Given the description of an element on the screen output the (x, y) to click on. 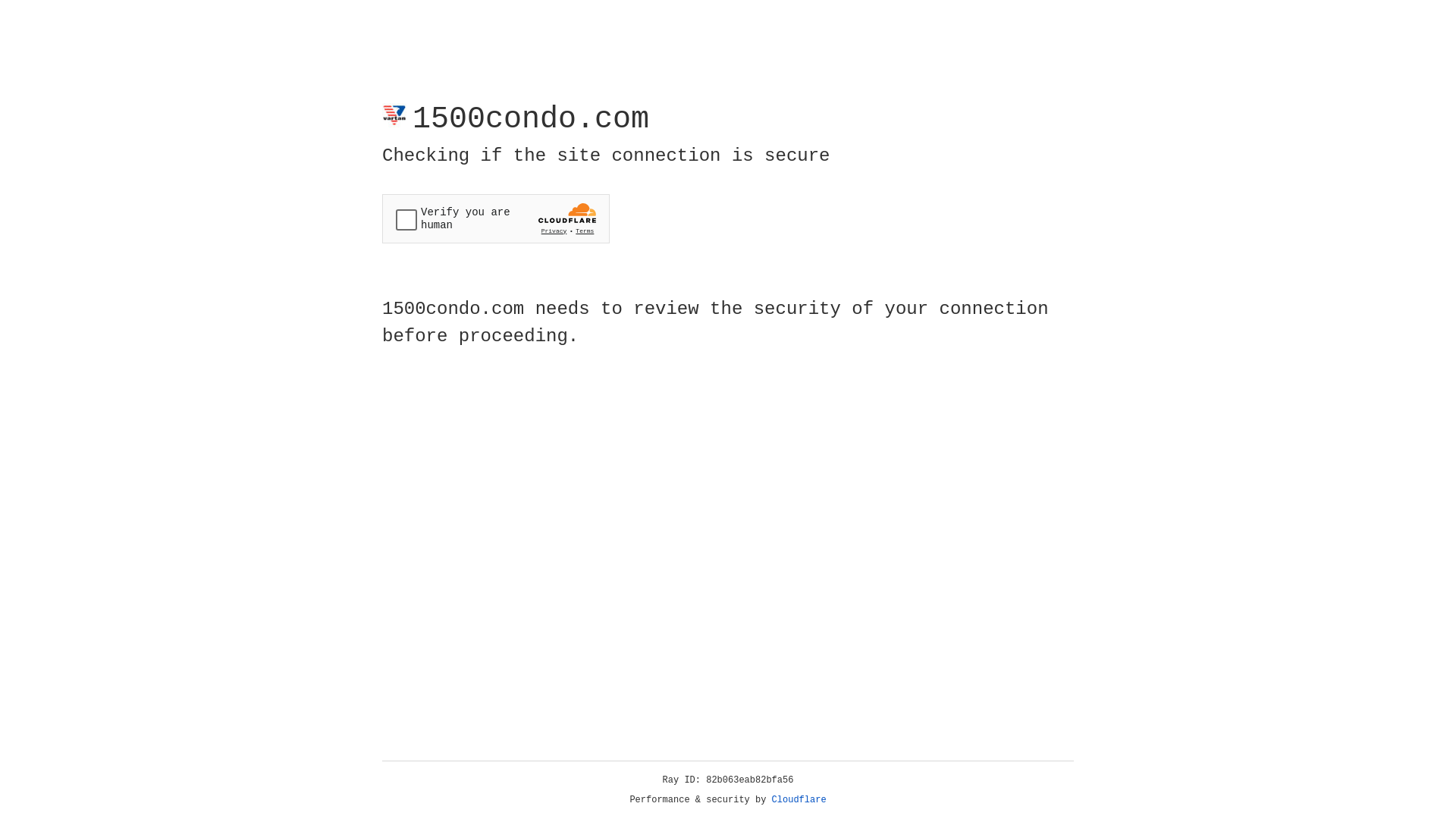
Widget containing a Cloudflare security challenge Element type: hover (495, 218)
Cloudflare Element type: text (798, 799)
